Given the description of an element on the screen output the (x, y) to click on. 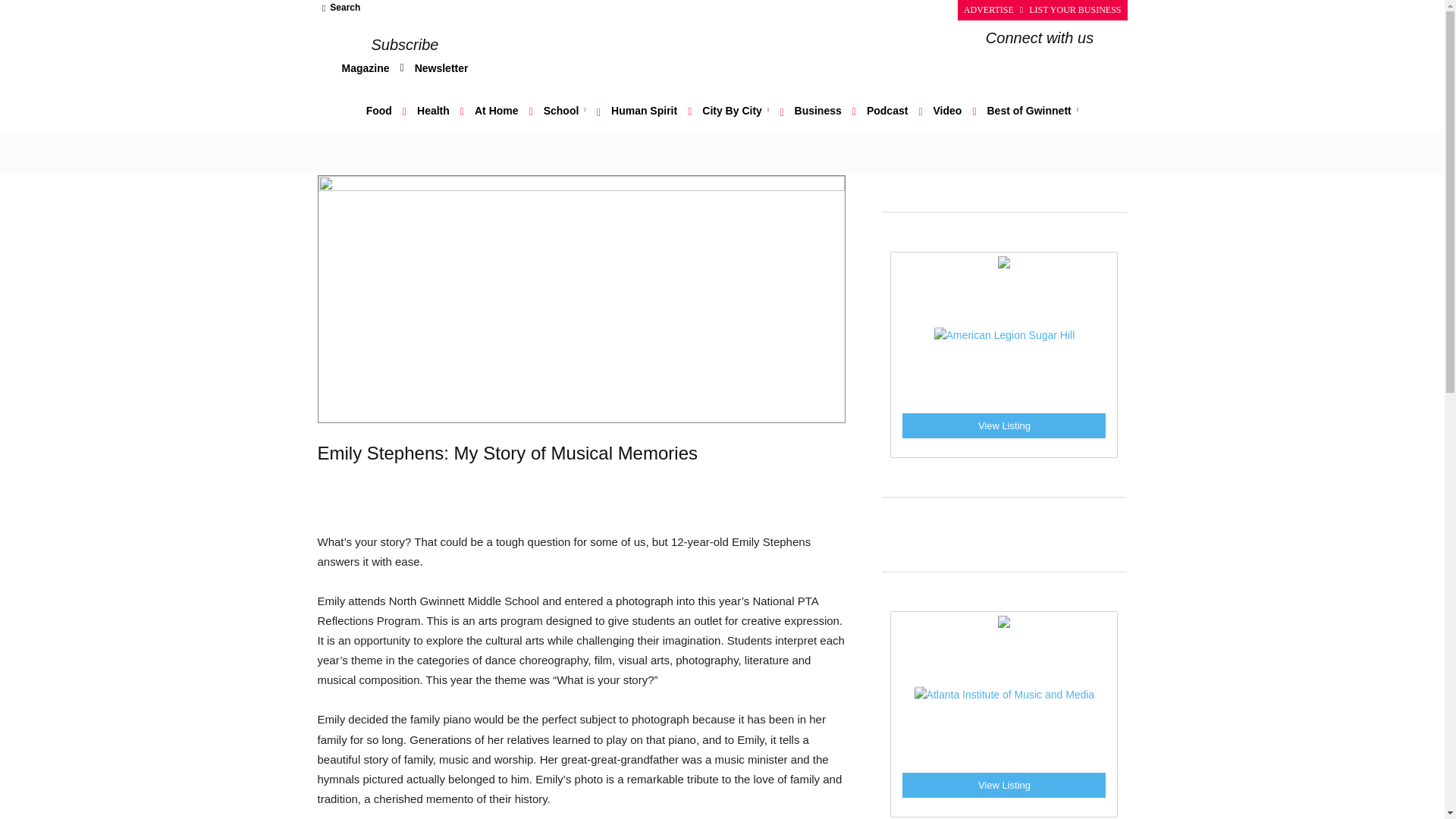
OLYMPUS DIGITAL CAMERA (581, 299)
